Given the description of an element on the screen output the (x, y) to click on. 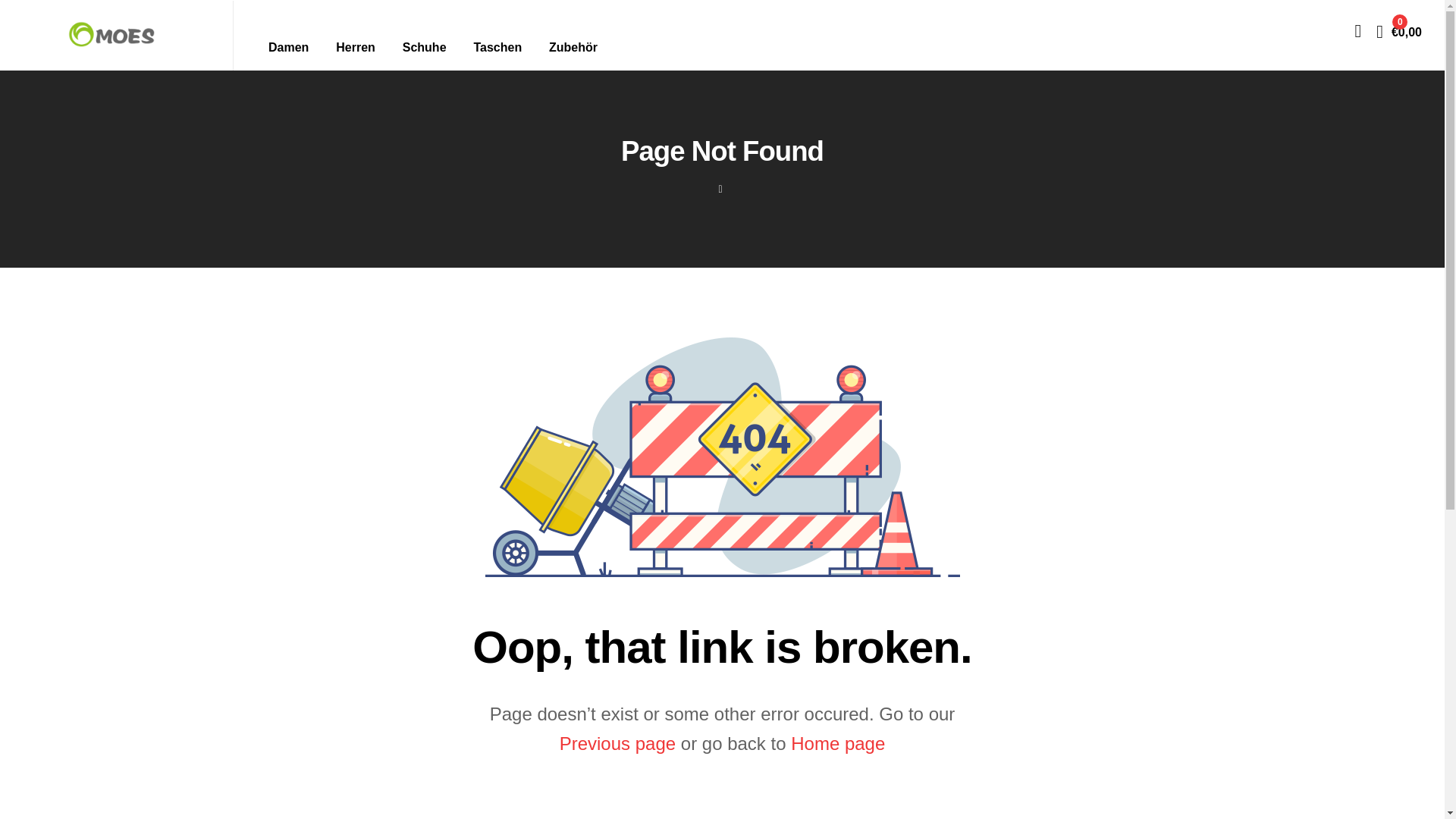
View your shopping cart (1398, 30)
Schuhe (424, 47)
Home page (837, 743)
Taschen (497, 47)
Damen (288, 47)
Previous page (617, 743)
Herren (355, 47)
